Given the description of an element on the screen output the (x, y) to click on. 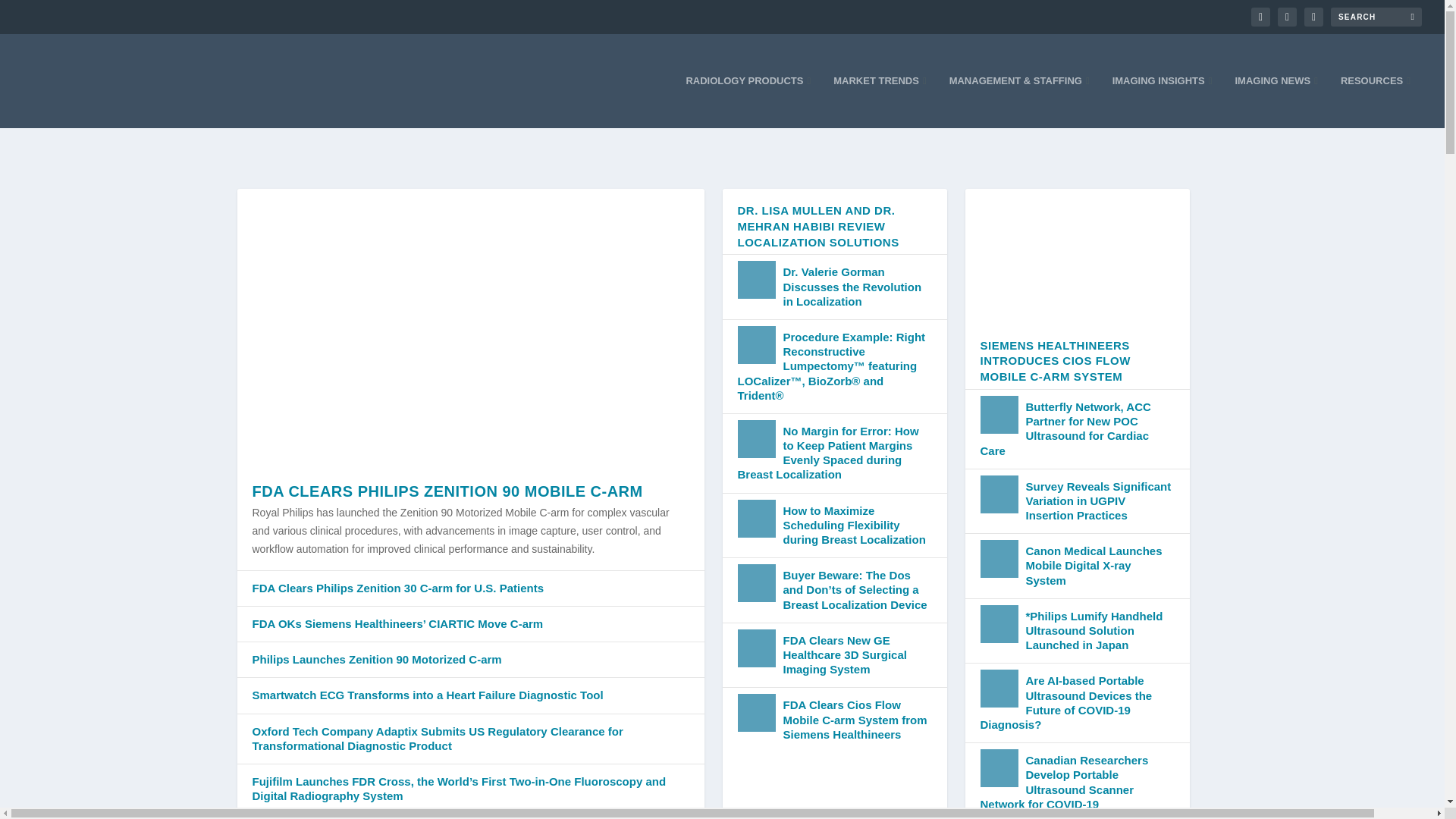
FDA Clears Philips Zenition 90 Mobile C-Arm (469, 328)
Dr. Valerie Gorman Discusses the Revolution in Localization (755, 279)
IMAGING NEWS (1275, 101)
FDA CLEARS PHILIPS ZENITION 90 MOBILE C-ARM (446, 491)
RADIOLOGY PRODUCTS (747, 101)
Philips Launches Zenition 90 Motorized C-arm (375, 658)
Dr. Valerie Gorman Discusses the Revolution in Localization (852, 286)
RESOURCES (1375, 101)
